Given the description of an element on the screen output the (x, y) to click on. 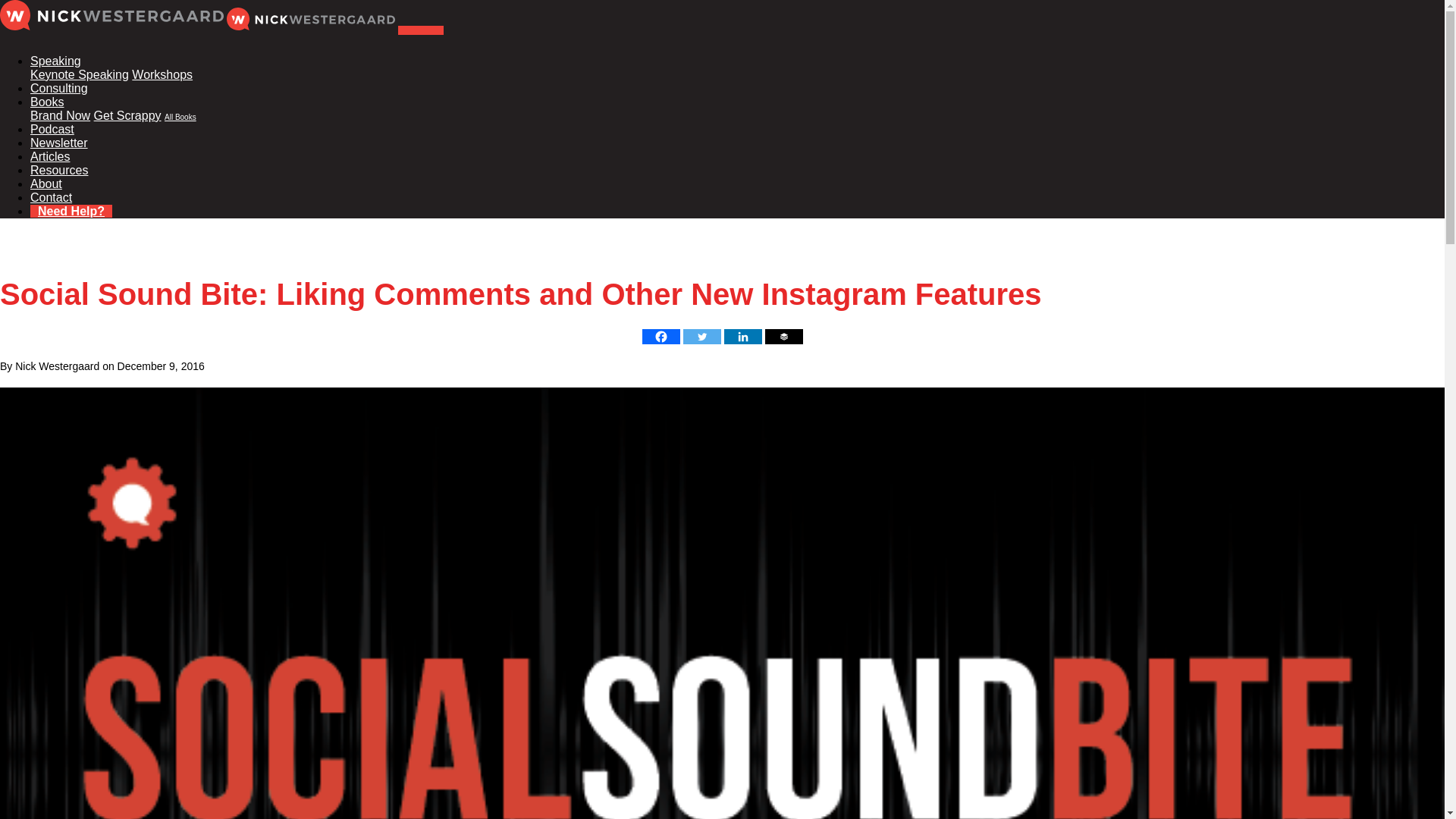
Linkedin (742, 336)
Podcast (52, 128)
Need Help? (71, 210)
Books (47, 101)
Resources (58, 169)
All Books (180, 117)
Get Scrappy (127, 115)
Newsletter (58, 142)
Consulting (58, 88)
Speaking (55, 60)
Twitter (701, 336)
Articles (49, 155)
Buffer (783, 336)
Keynote Speaking (79, 74)
Contact (50, 196)
